Given the description of an element on the screen output the (x, y) to click on. 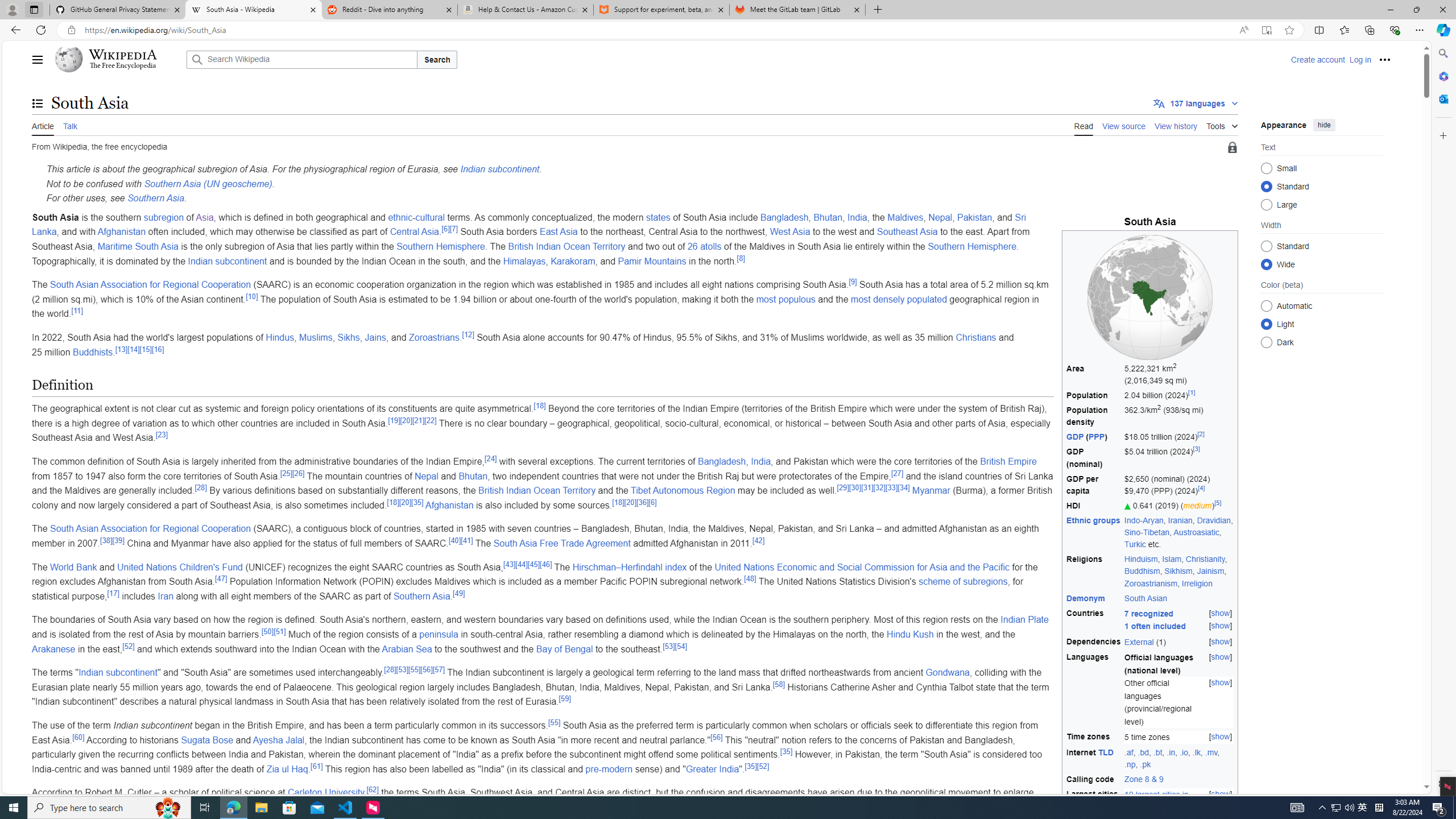
[11] (76, 310)
The Free Encyclopedia (121, 65)
[42] (757, 539)
Hindu Kush (909, 633)
South Asian (1179, 598)
West Asia (790, 231)
[53] (401, 669)
Demonym (1085, 597)
Jainism (1210, 570)
Class: mw-list-item mw-list-item-js (1321, 323)
Hinduism (1140, 559)
[44] (521, 563)
states (658, 217)
Sikhs (348, 337)
